Given the description of an element on the screen output the (x, y) to click on. 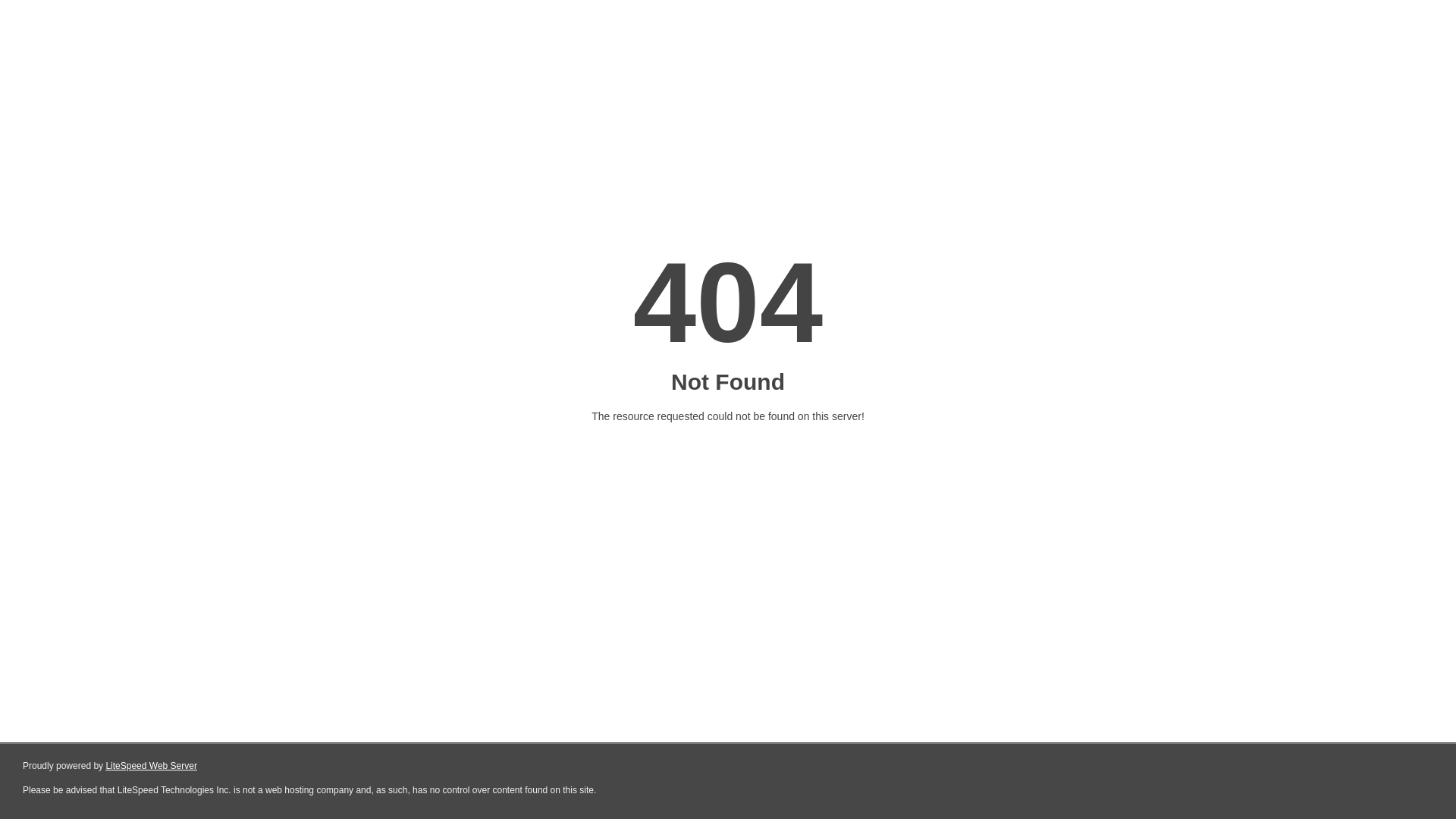
LiteSpeed Web Server Element type: text (151, 765)
